Given the description of an element on the screen output the (x, y) to click on. 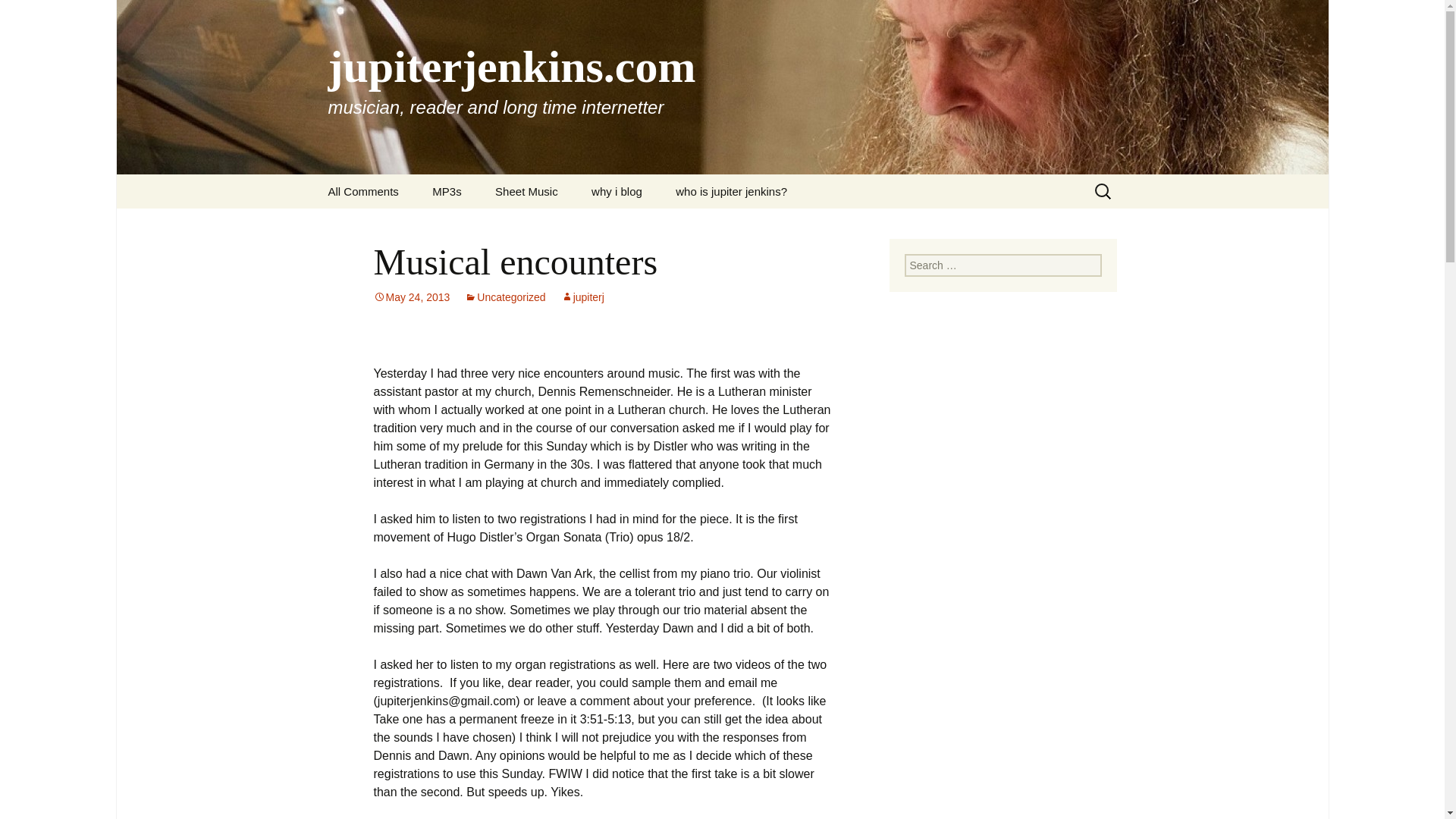
All Comments (363, 191)
jupiterj (582, 297)
Sheet Music (526, 191)
Permalink to Musical encounters (410, 297)
why i blog (617, 191)
who is jupiter jenkins? (731, 191)
MP3s (446, 191)
Search (18, 15)
Search (34, 15)
May 24, 2013 (410, 297)
Uncategorized (504, 297)
View all posts by jupiterj (582, 297)
